Given the description of an element on the screen output the (x, y) to click on. 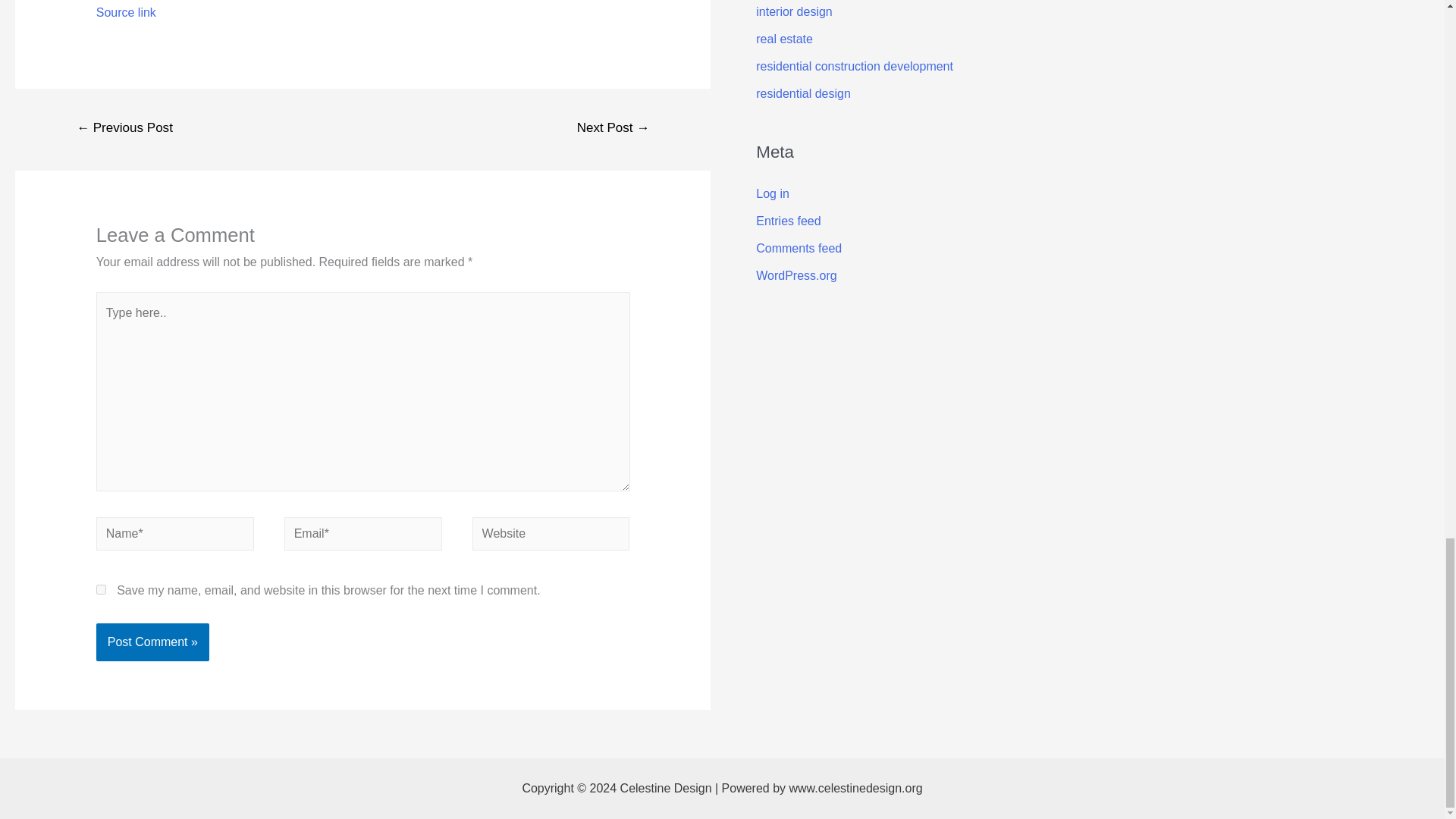
yes (101, 589)
